Given the description of an element on the screen output the (x, y) to click on. 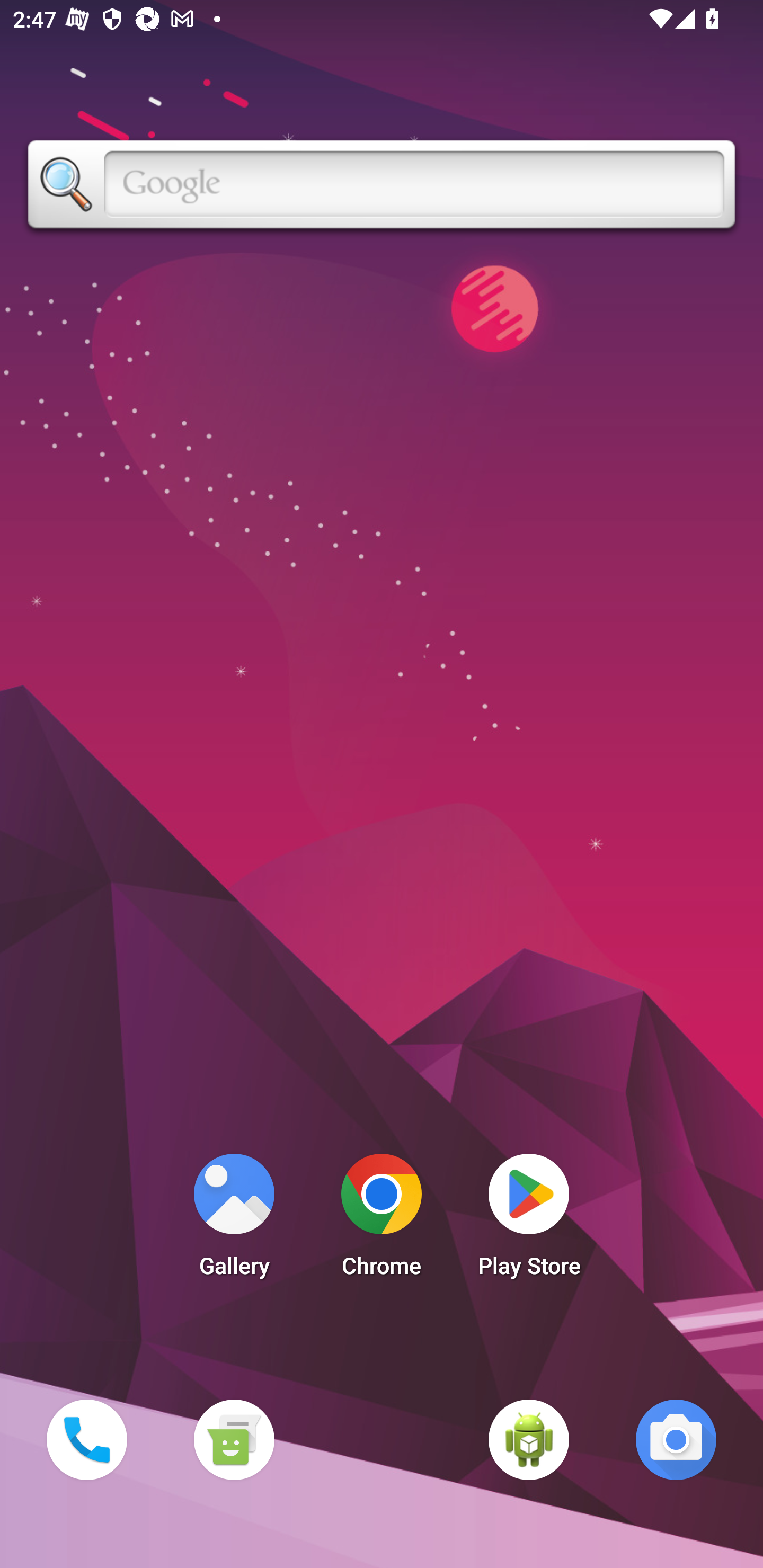
Gallery (233, 1220)
Chrome (381, 1220)
Play Store (528, 1220)
Phone (86, 1439)
Messaging (233, 1439)
WebView Browser Tester (528, 1439)
Camera (676, 1439)
